Given the description of an element on the screen output the (x, y) to click on. 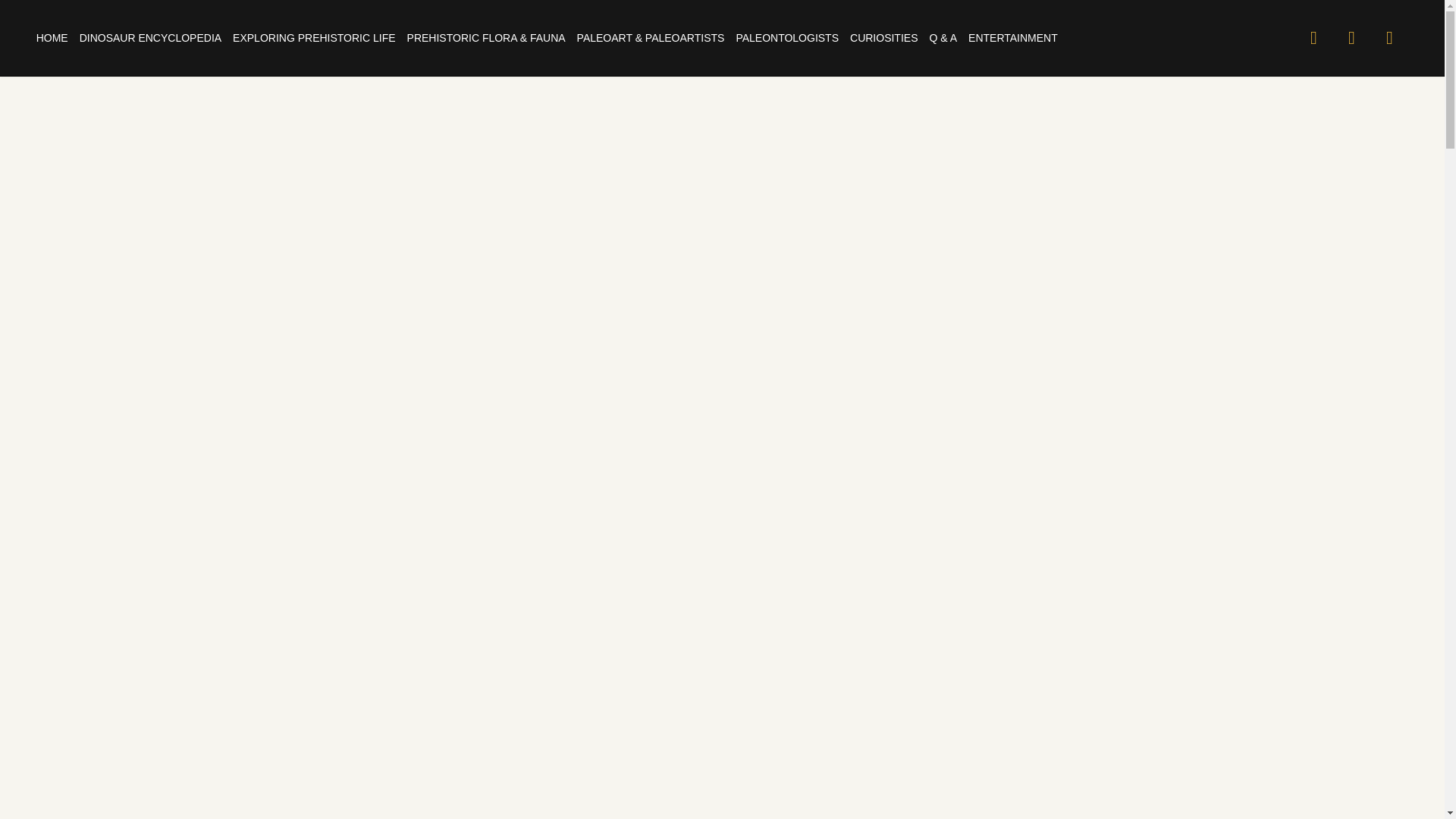
DINOSAUR ENCYCLOPEDIA (150, 38)
EXPLORING PREHISTORIC LIFE (313, 38)
ENTERTAINMENT (1013, 38)
CURIOSITIES (883, 38)
Advertisement (721, 796)
PALEONTOLOGISTS (786, 38)
